Given the description of an element on the screen output the (x, y) to click on. 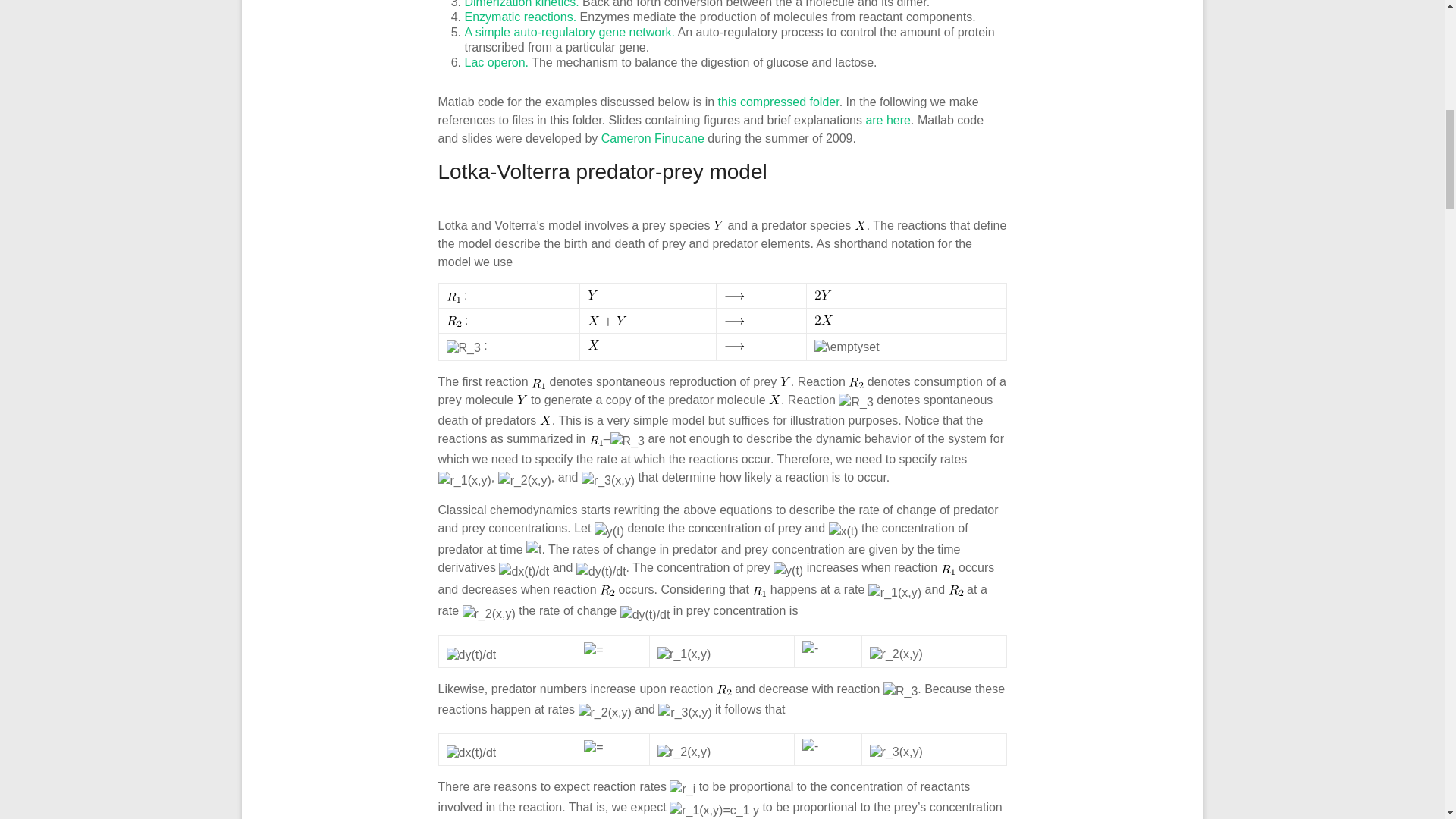
Rendered by QuickLaTeX.com (593, 294)
Rendered by QuickLaTeX.com (733, 295)
Rendered by QuickLaTeX.com (593, 344)
Rendered by QuickLaTeX.com (822, 319)
Rendered by QuickLaTeX.com (718, 225)
Rendered by QuickLaTeX.com (462, 347)
Cameron Finucane (652, 137)
A simple auto-regulatory gene network. (569, 31)
Rendered by QuickLaTeX.com (860, 225)
Rendered by QuickLaTeX.com (733, 320)
